Given the description of an element on the screen output the (x, y) to click on. 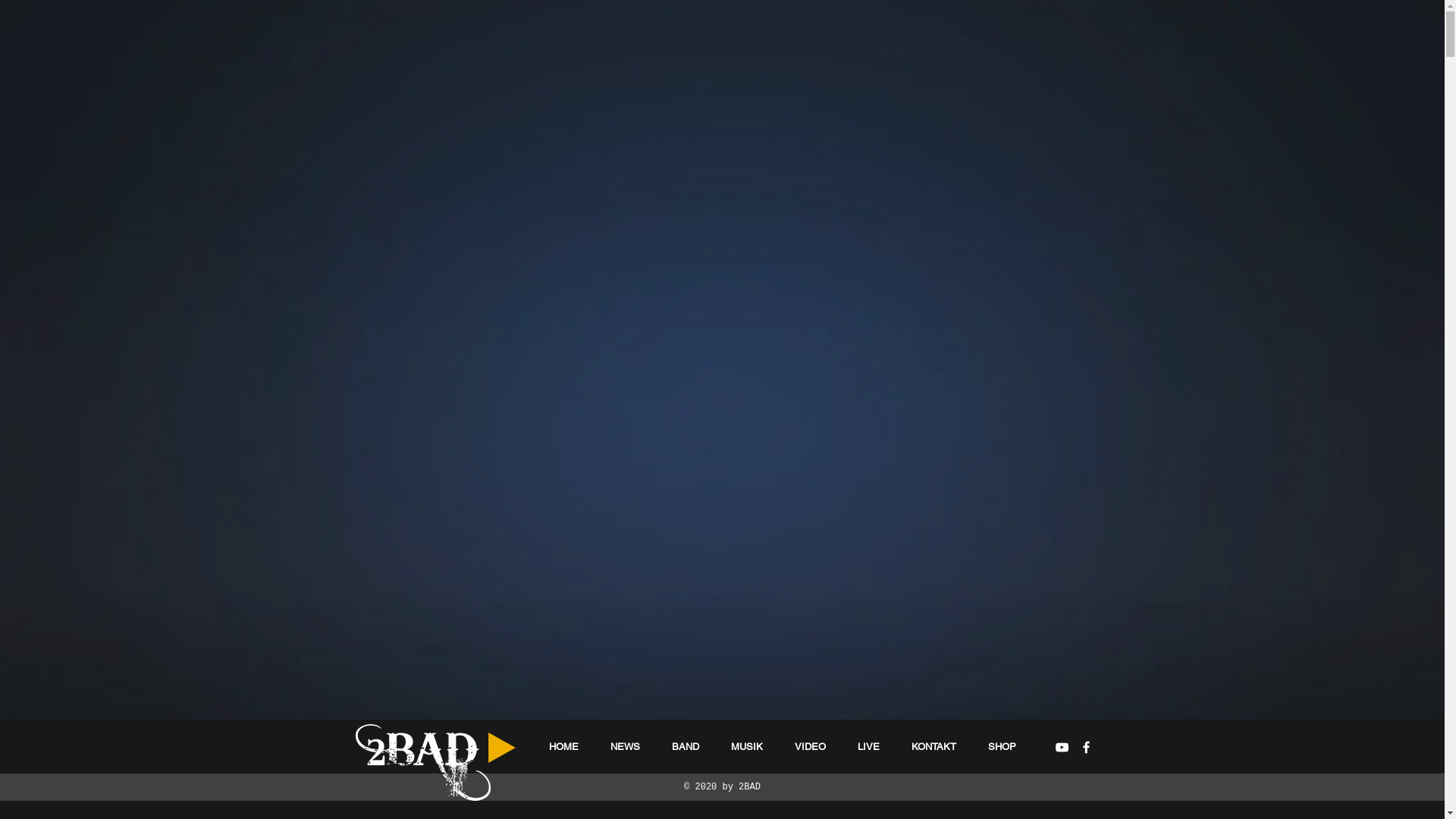
LIVE Element type: text (868, 746)
KONTAKT Element type: text (933, 746)
NEWS Element type: text (624, 746)
BAND Element type: text (685, 746)
VIDEO Element type: text (809, 746)
HOME Element type: text (563, 746)
MUSIK Element type: text (746, 746)
SHOP Element type: text (1002, 746)
